Given the description of an element on the screen output the (x, y) to click on. 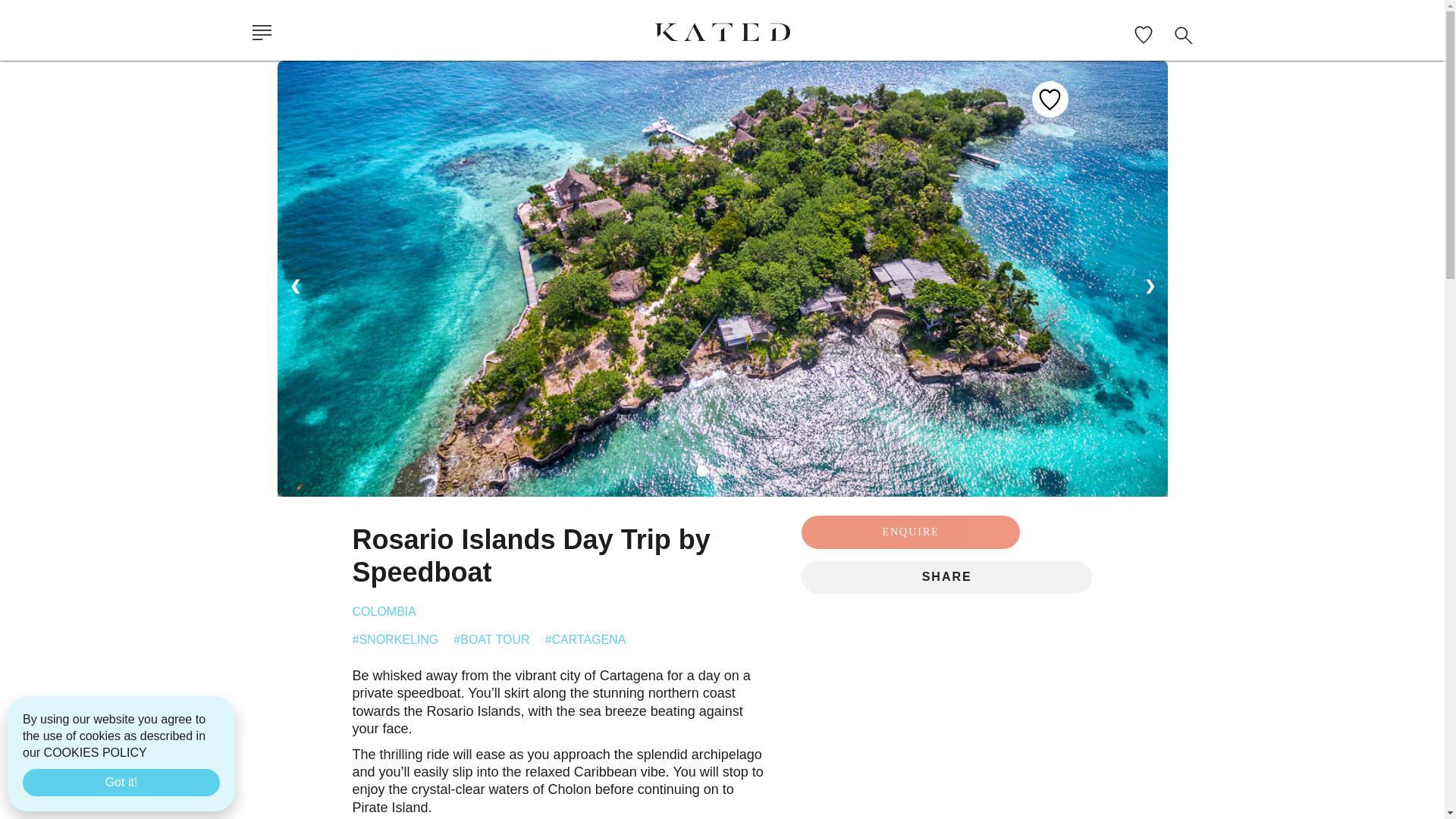
ENQUIRE (911, 531)
COLOMBIA (383, 611)
Main Menu (263, 36)
